Given the description of an element on the screen output the (x, y) to click on. 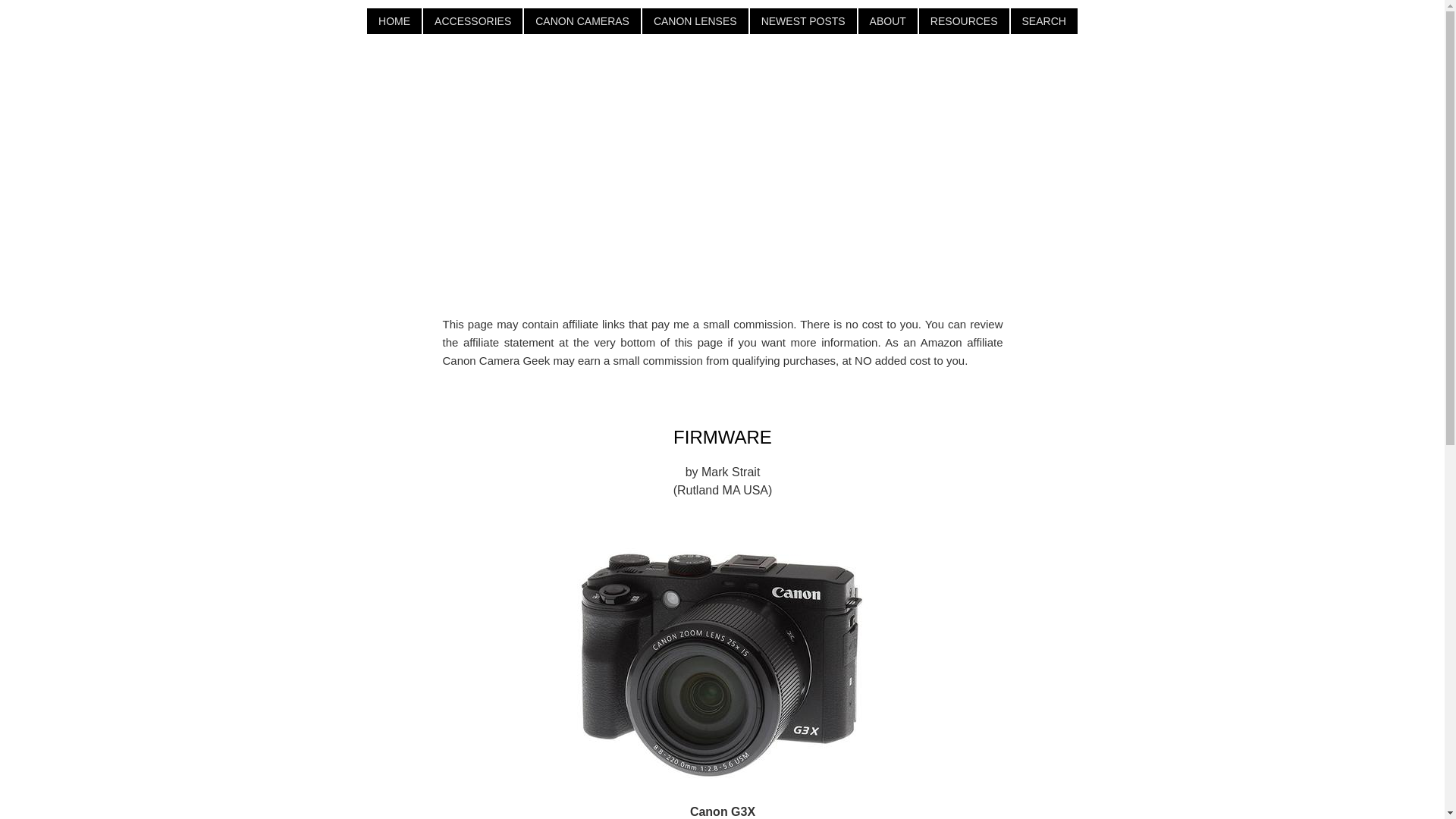
Canon G3X (722, 648)
NEWEST POSTS (803, 21)
CANON CAMERAS (582, 21)
HOME (394, 21)
CANON LENSES (695, 21)
ABOUT (888, 21)
CanonCameraGeek.Com (722, 128)
SEARCH (1043, 21)
RESOURCES (963, 21)
ACCESSORIES (472, 21)
